Given the description of an element on the screen output the (x, y) to click on. 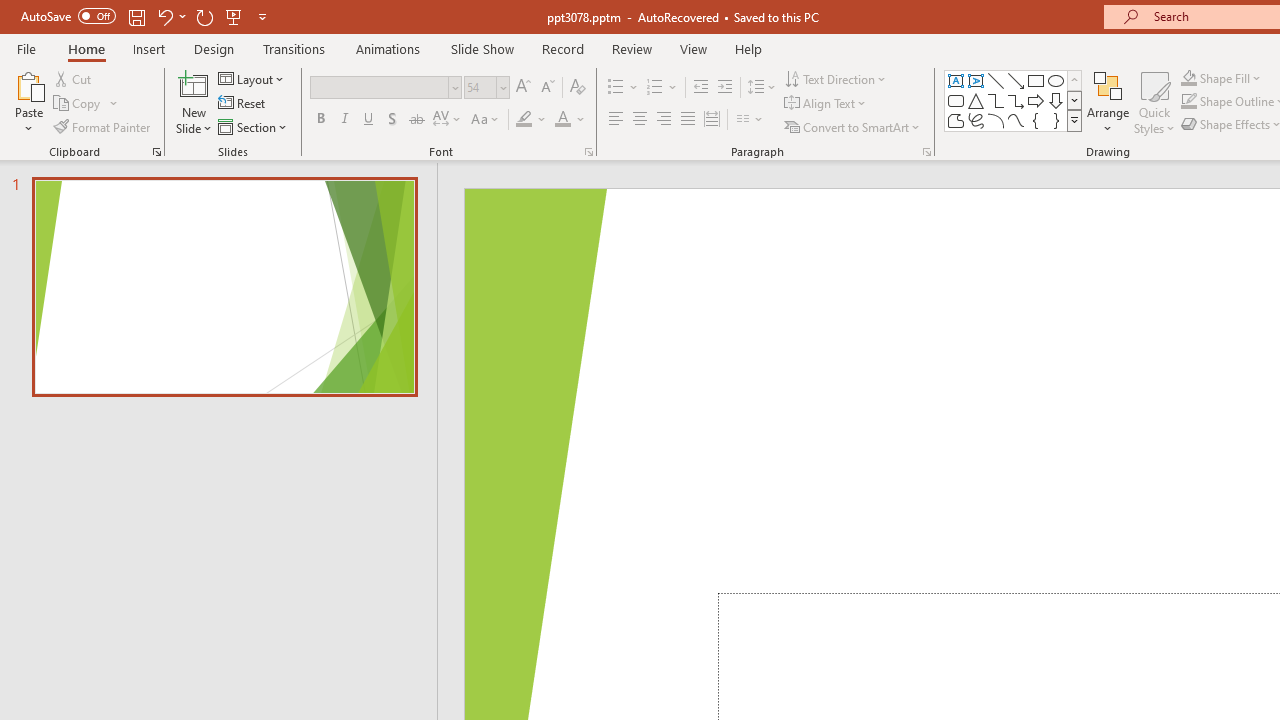
Shape Fill Dark Green, Accent 2 (1188, 78)
